Given the description of an element on the screen output the (x, y) to click on. 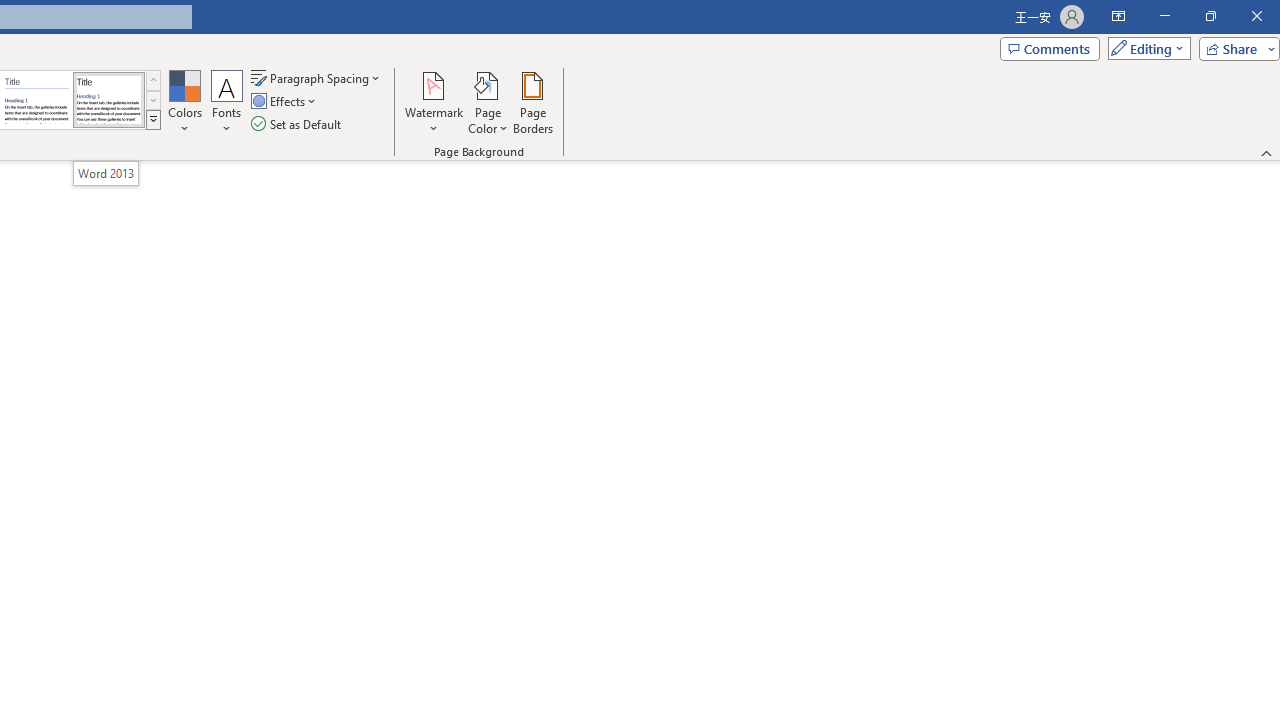
Watermark (434, 102)
Effects (285, 101)
Colors (184, 102)
Paragraph Spacing (317, 78)
Word 2013 (108, 100)
Page Color (487, 102)
